Given the description of an element on the screen output the (x, y) to click on. 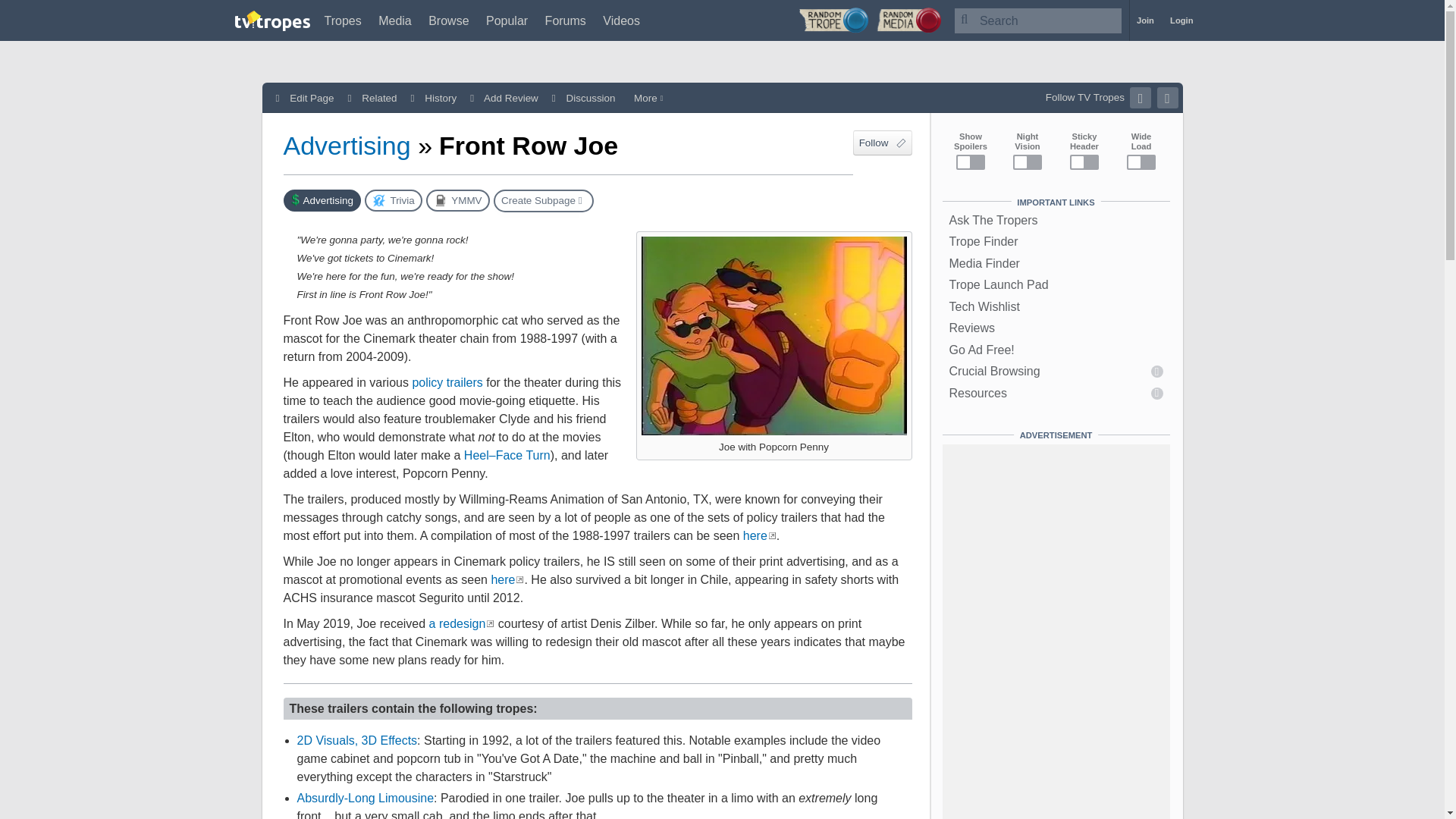
The Trivia page (393, 200)
The YMMV page (457, 200)
Tropes (342, 20)
Videos (621, 20)
The Advertising page (322, 200)
Login (1181, 20)
Forums (565, 20)
Browse (448, 20)
Media (395, 20)
Popular (506, 20)
